Given the description of an element on the screen output the (x, y) to click on. 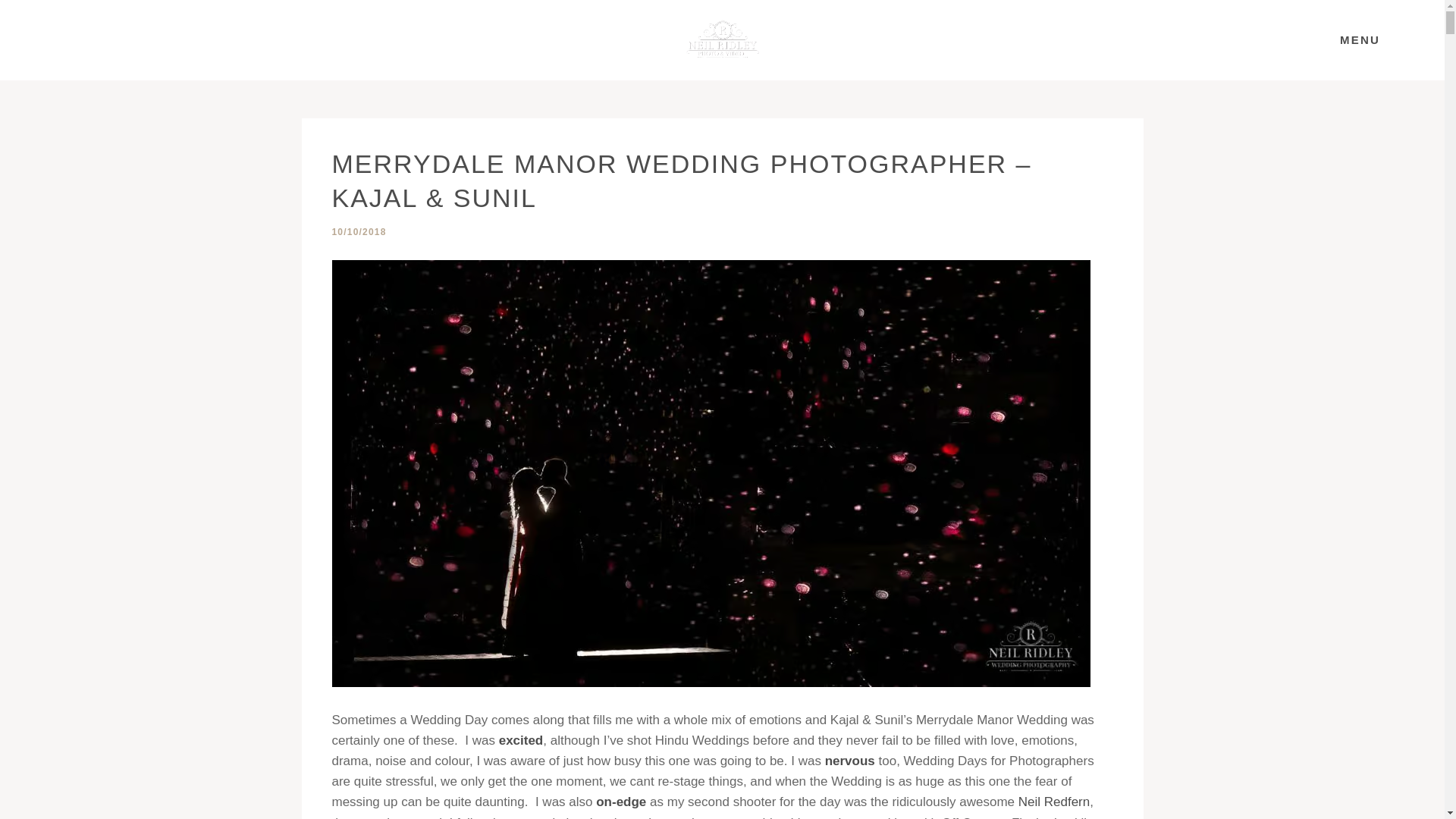
Neil Redfern (1053, 801)
MENU (1359, 39)
